Given the description of an element on the screen output the (x, y) to click on. 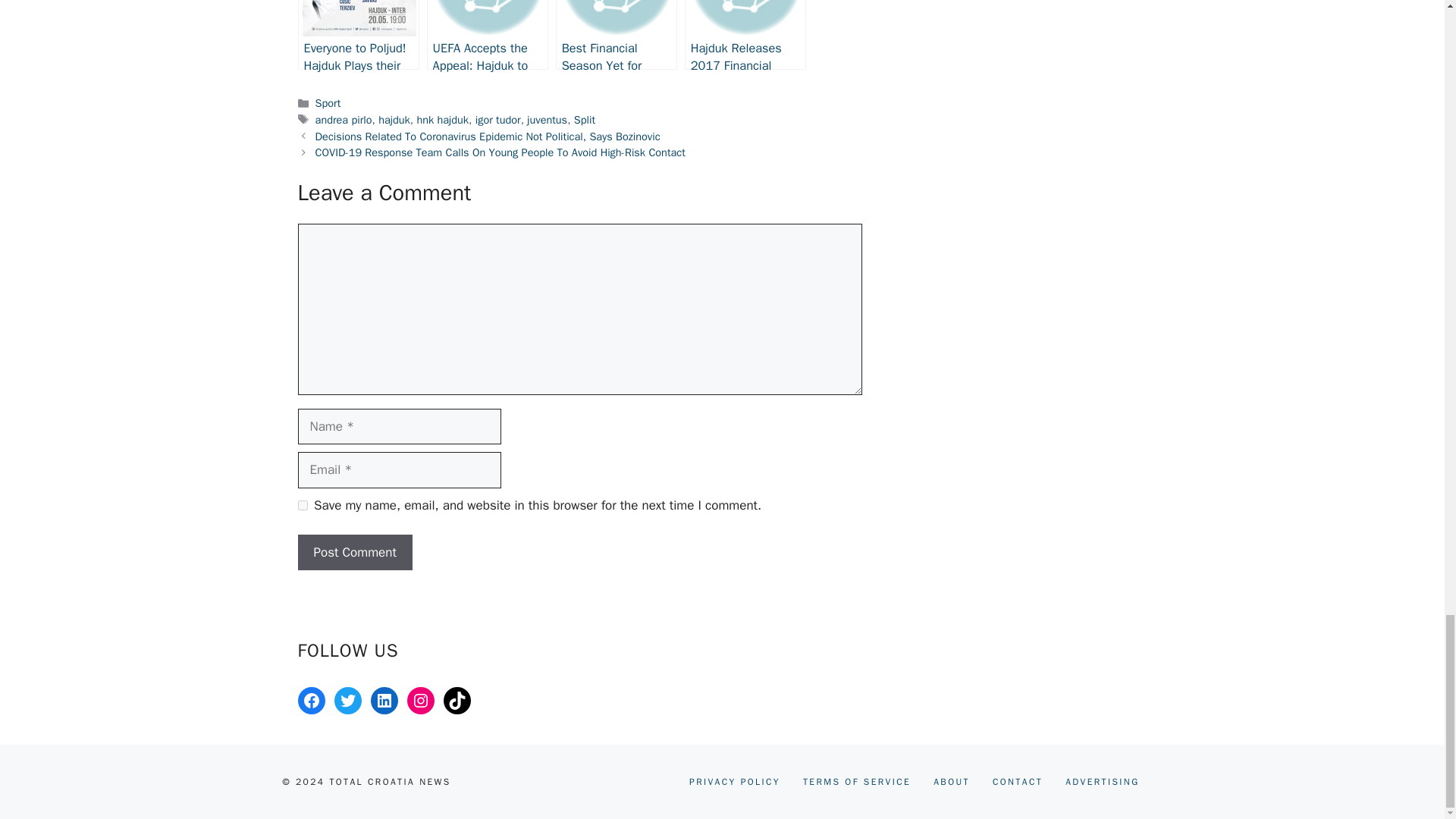
Post Comment (354, 552)
yes (302, 505)
